Given the description of an element on the screen output the (x, y) to click on. 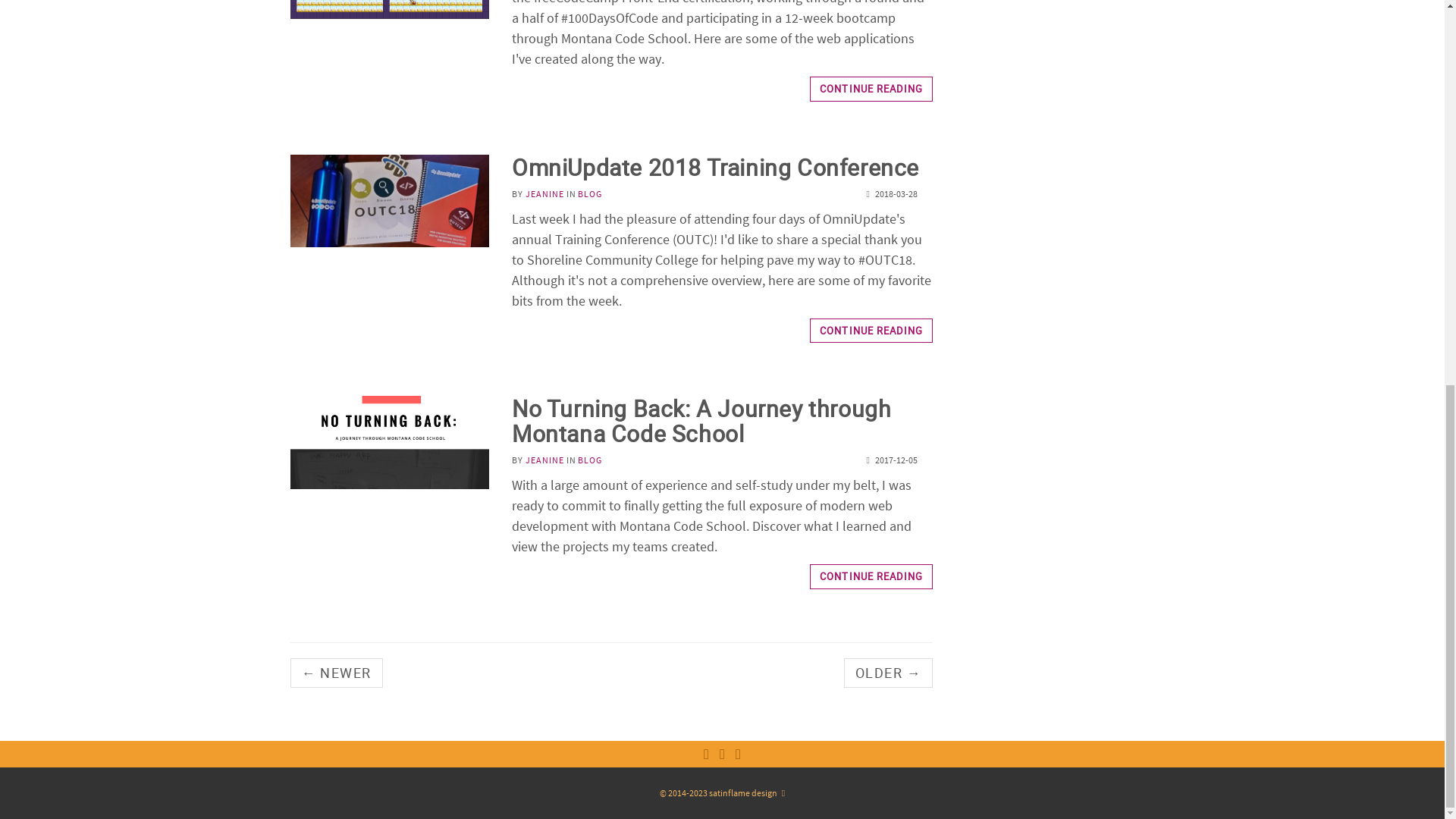
JEANINE (544, 460)
No Turning Back: A Journey through Montana Code School (871, 88)
2017-12-05 (871, 330)
BLOG (701, 420)
BLOG (890, 460)
2018-03-28 (590, 460)
JEANINE (590, 193)
